Given the description of an element on the screen output the (x, y) to click on. 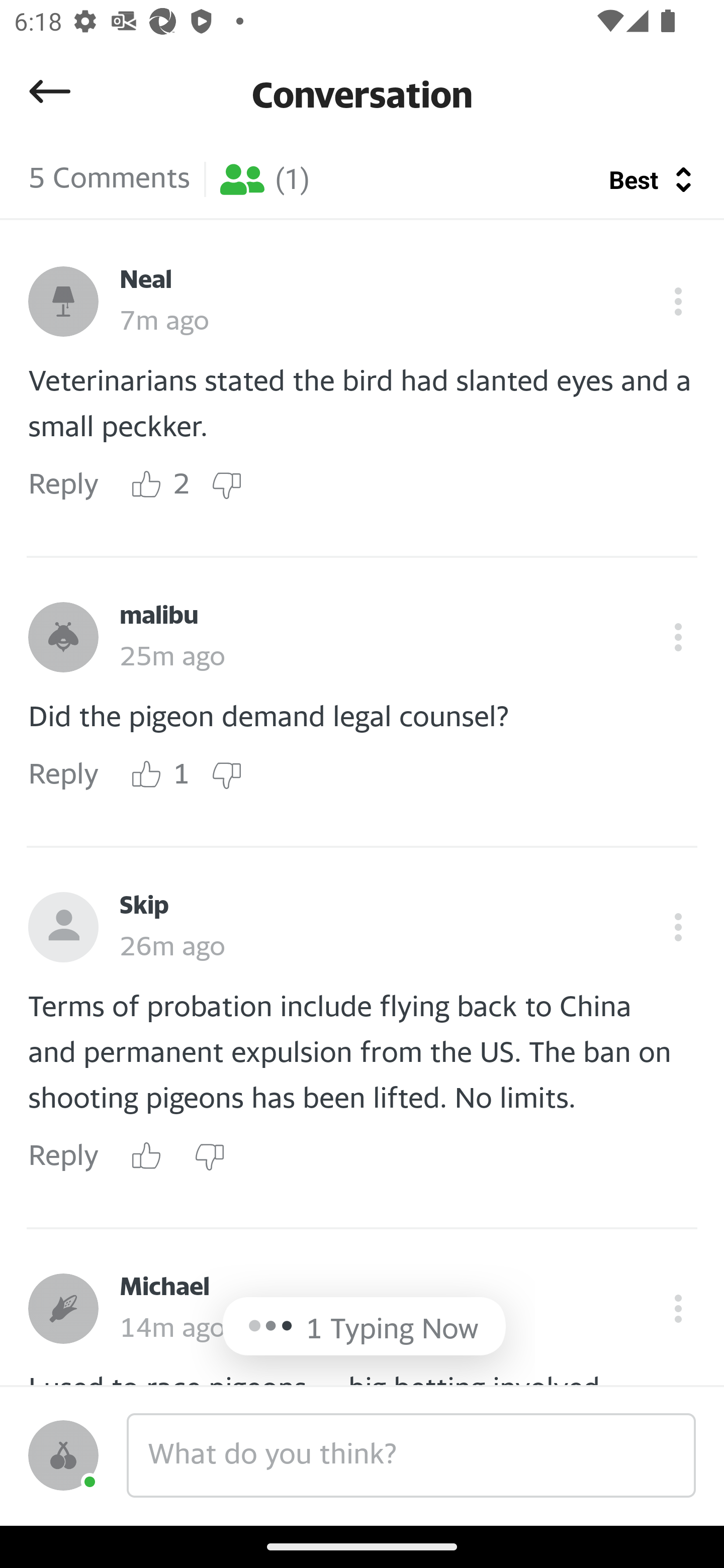
Best (635, 179)
Profile image (63, 301)
Options menu (677, 301)
Neal (145, 280)
Reply (62, 485)
Up vote button Up vote button Up vote button (146, 485)
Down vote button Down vote button Down vote button (226, 485)
Profile image (63, 637)
Options menu (677, 637)
malibu (158, 615)
Reply (62, 774)
Up vote button Up vote button Up vote button (146, 775)
Down vote button Down vote button Down vote button (226, 775)
Profile image (63, 927)
Options menu (677, 927)
Skip (143, 905)
Reply (62, 1156)
Up vote button Up vote button Up vote button (146, 1156)
Down vote button Down vote button Down vote button (209, 1156)
Profile image (63, 1308)
Options menu (677, 1308)
Michael (164, 1286)
What do you think? (410, 1454)
Profile image (63, 1455)
